Given the description of an element on the screen output the (x, y) to click on. 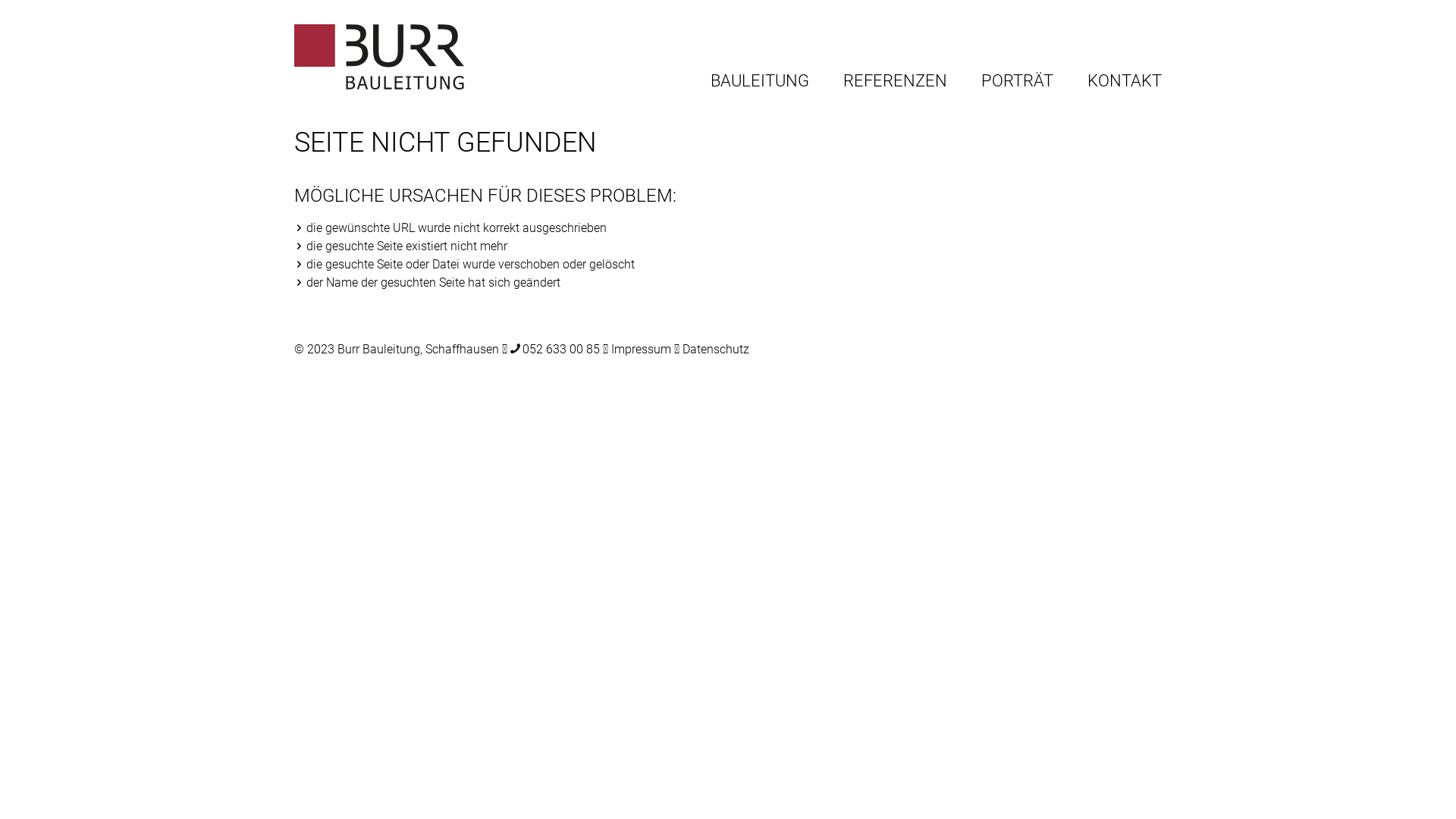
REFERENZEN Element type: text (895, 82)
Impressum Element type: text (641, 349)
Datenschutz Element type: text (715, 349)
BAULEITUNG Element type: text (759, 82)
KONTAKT Element type: text (1124, 82)
052 633 00 85 Element type: text (554, 349)
